Given the description of an element on the screen output the (x, y) to click on. 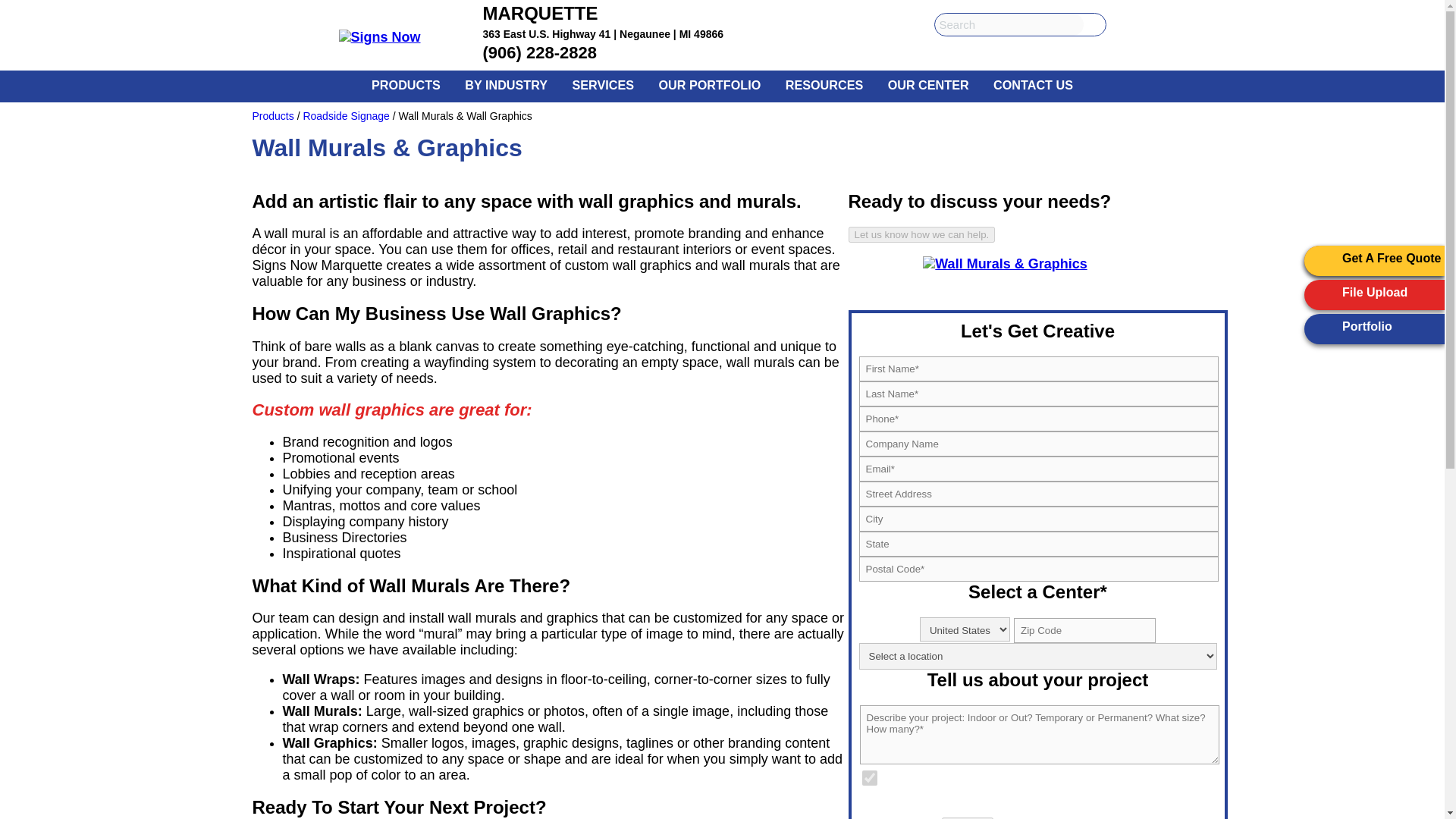
Products (272, 115)
Roadside Signage (345, 115)
OUR PORTFOLIO (709, 84)
CONTACT US (1032, 84)
RESOURCES (824, 84)
Let us know how we can help. (920, 234)
BY INDUSTRY (505, 84)
Signs Now (402, 36)
SERVICES (602, 84)
OUR CENTER (927, 84)
1 (868, 777)
PRODUCTS (405, 84)
